Given the description of an element on the screen output the (x, y) to click on. 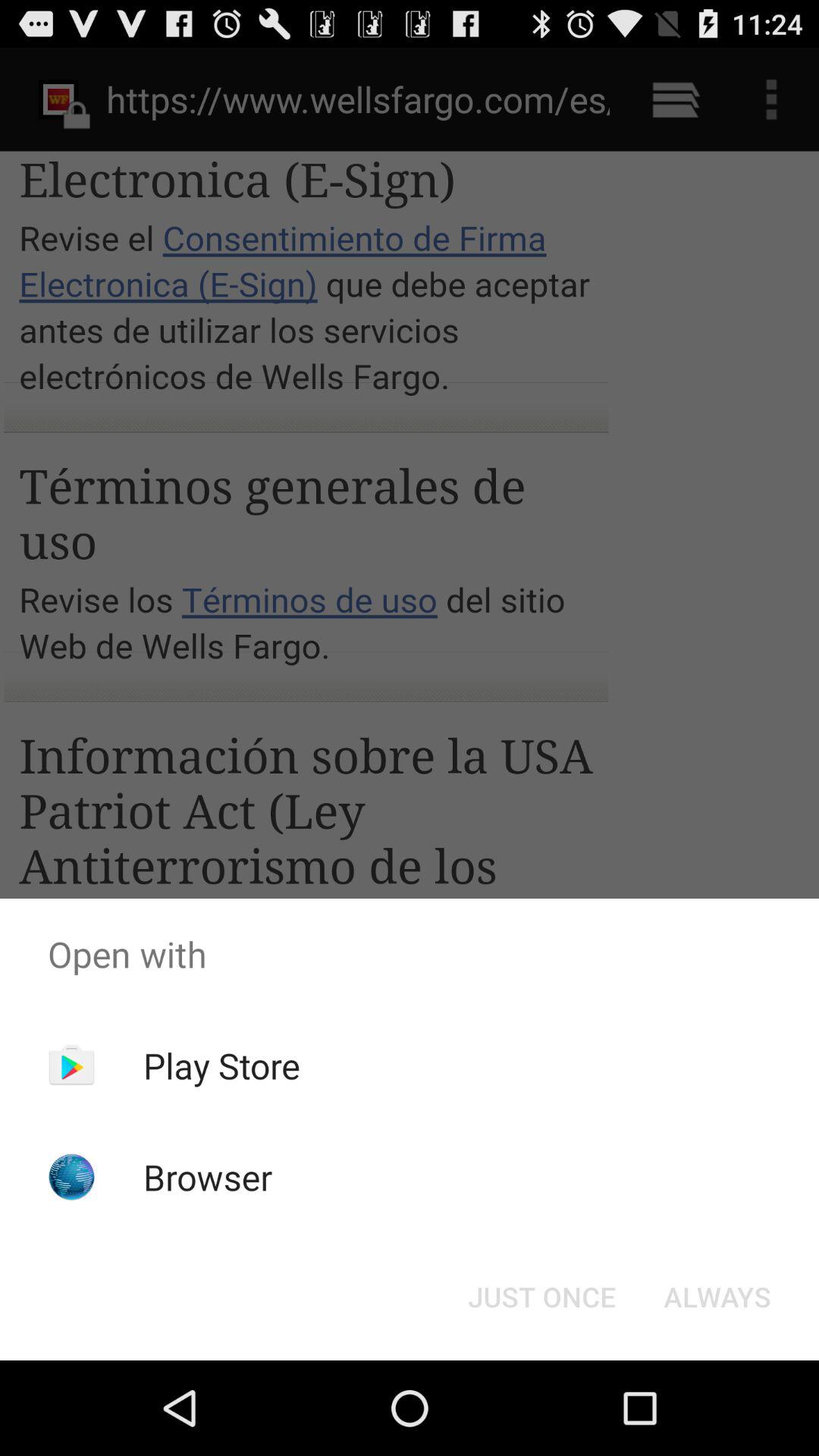
launch play store app (221, 1065)
